Given the description of an element on the screen output the (x, y) to click on. 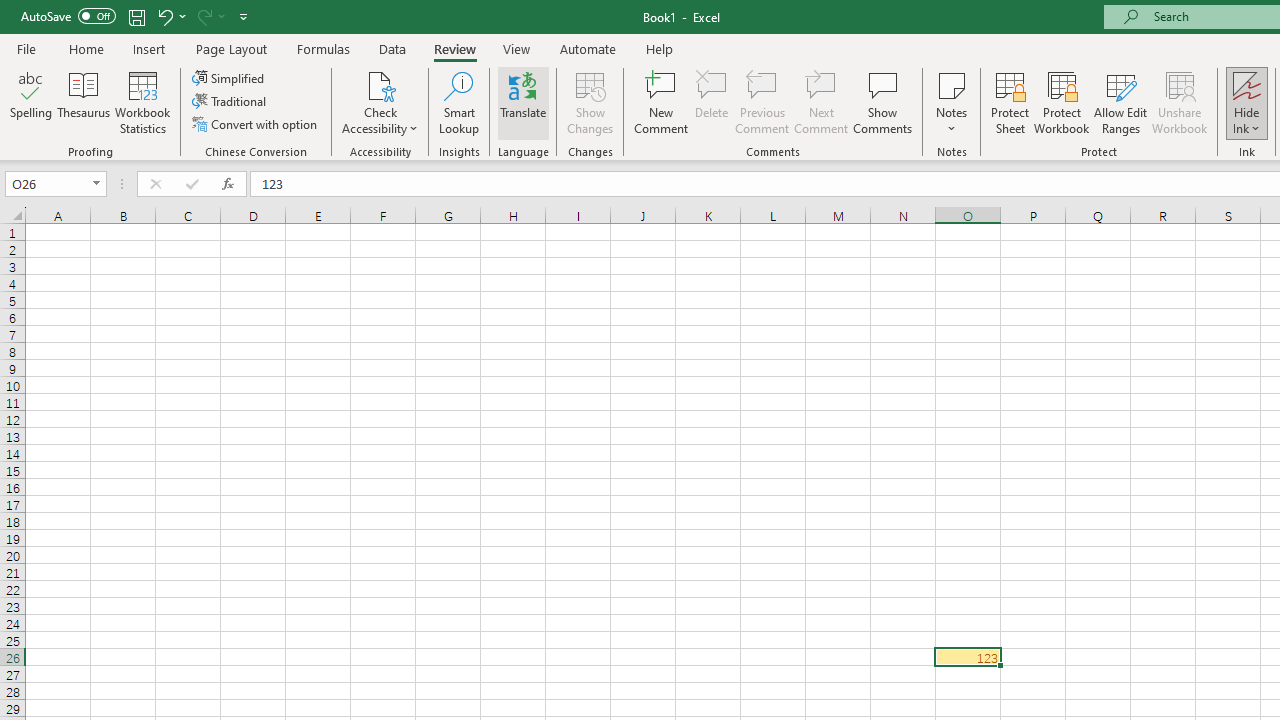
Thesaurus... (83, 102)
